Given the description of an element on the screen output the (x, y) to click on. 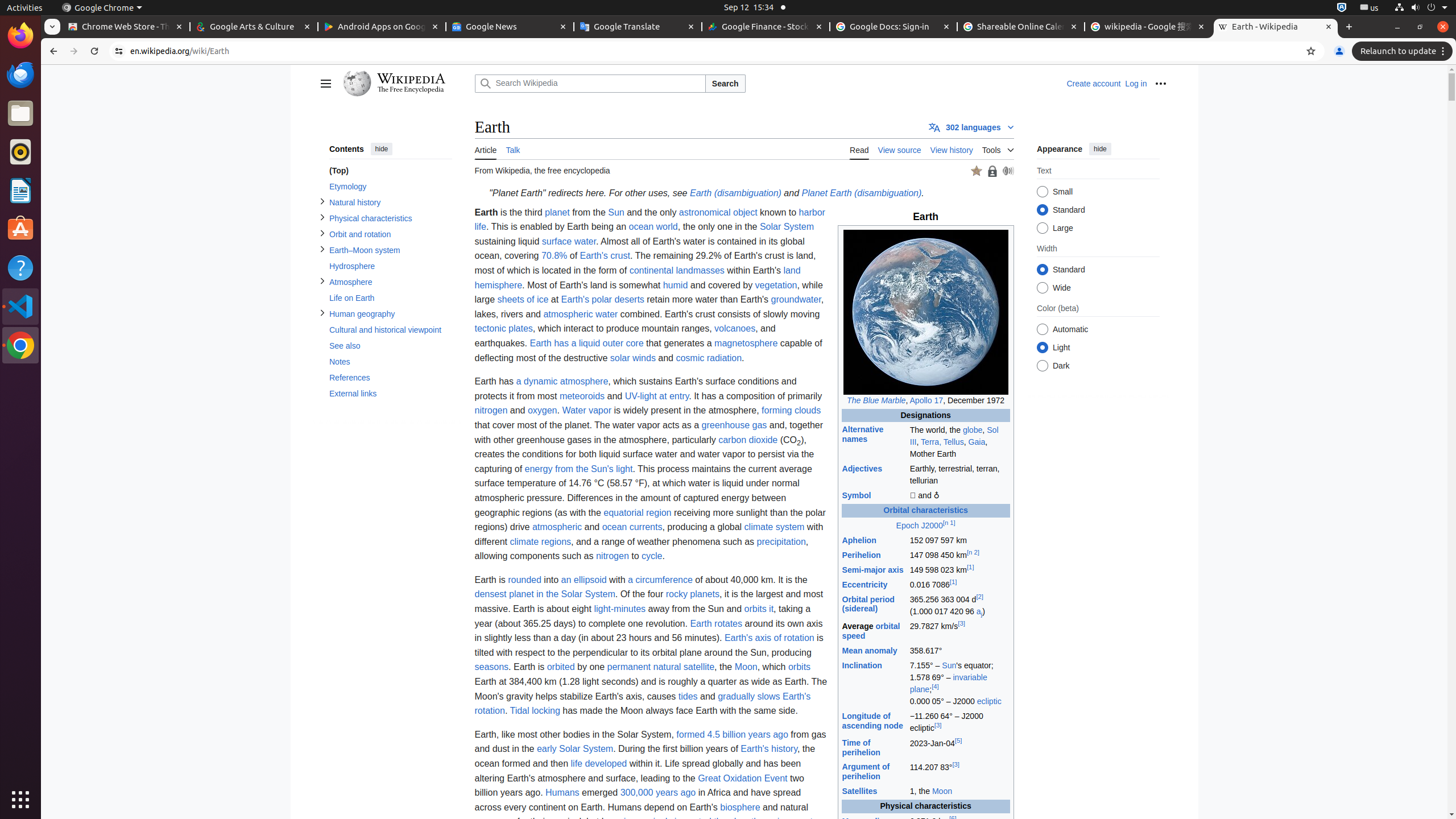
Visual Studio Code Element type: push-button (20, 306)
Orbital period (sidereal) Element type: link (867, 603)
Visual Studio Code Element type: menu (107, 7)
permanent Element type: link (628, 667)
an ellipsoid Element type: link (583, 579)
